Given the description of an element on the screen output the (x, y) to click on. 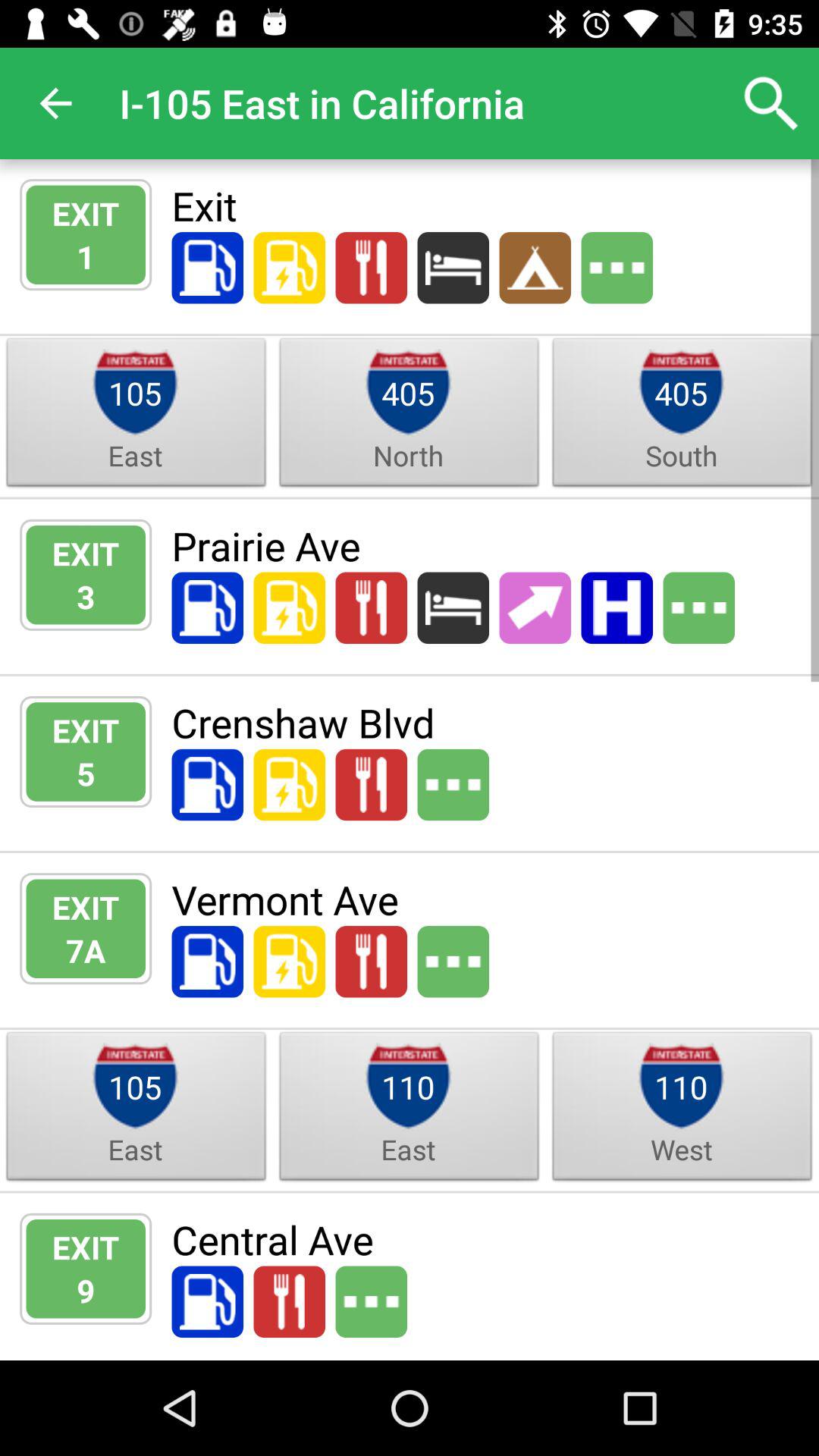
launch icon to the left of i 105 east icon (55, 103)
